Given the description of an element on the screen output the (x, y) to click on. 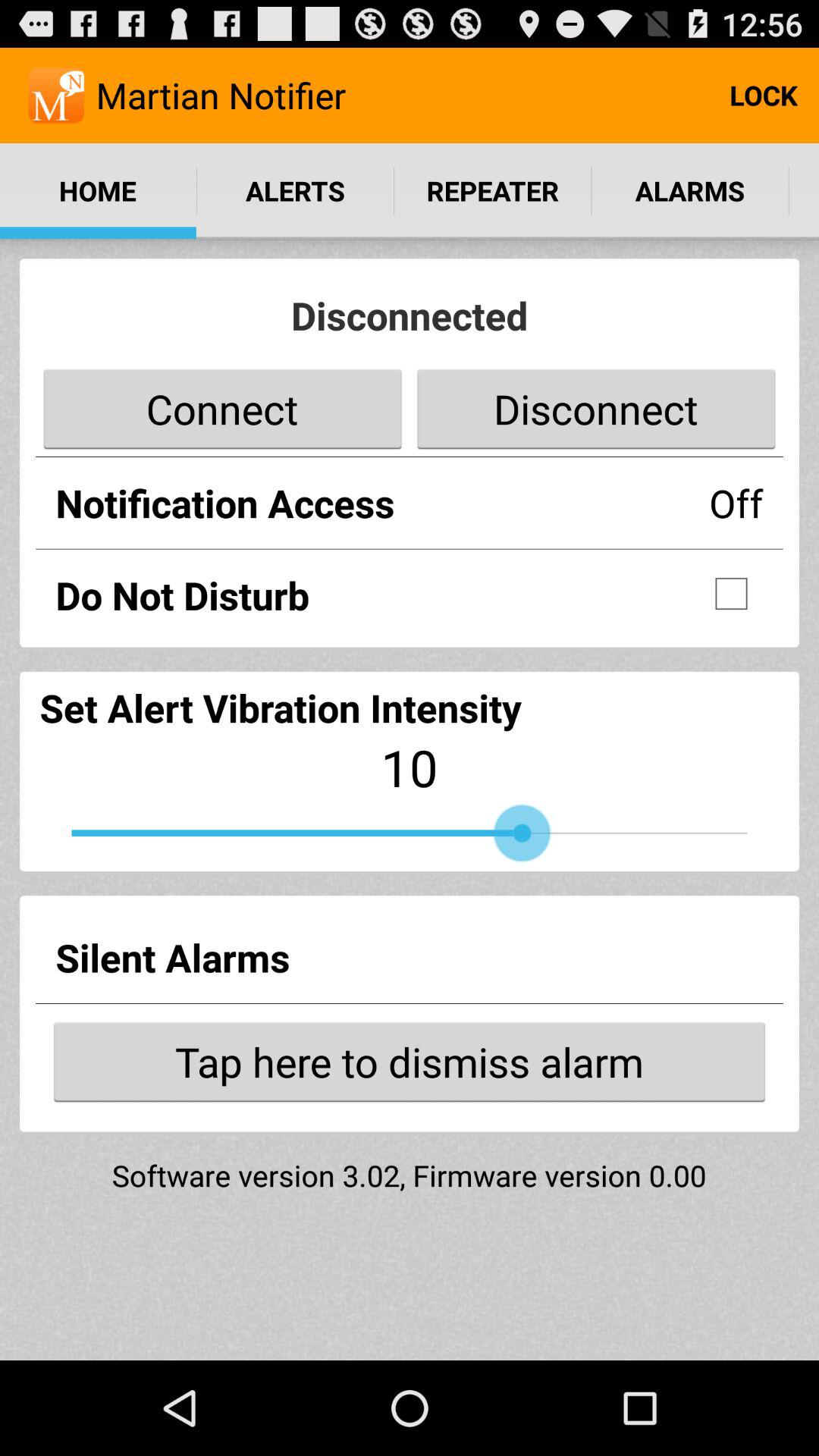
turn on/off do not disturb feature (731, 593)
